Given the description of an element on the screen output the (x, y) to click on. 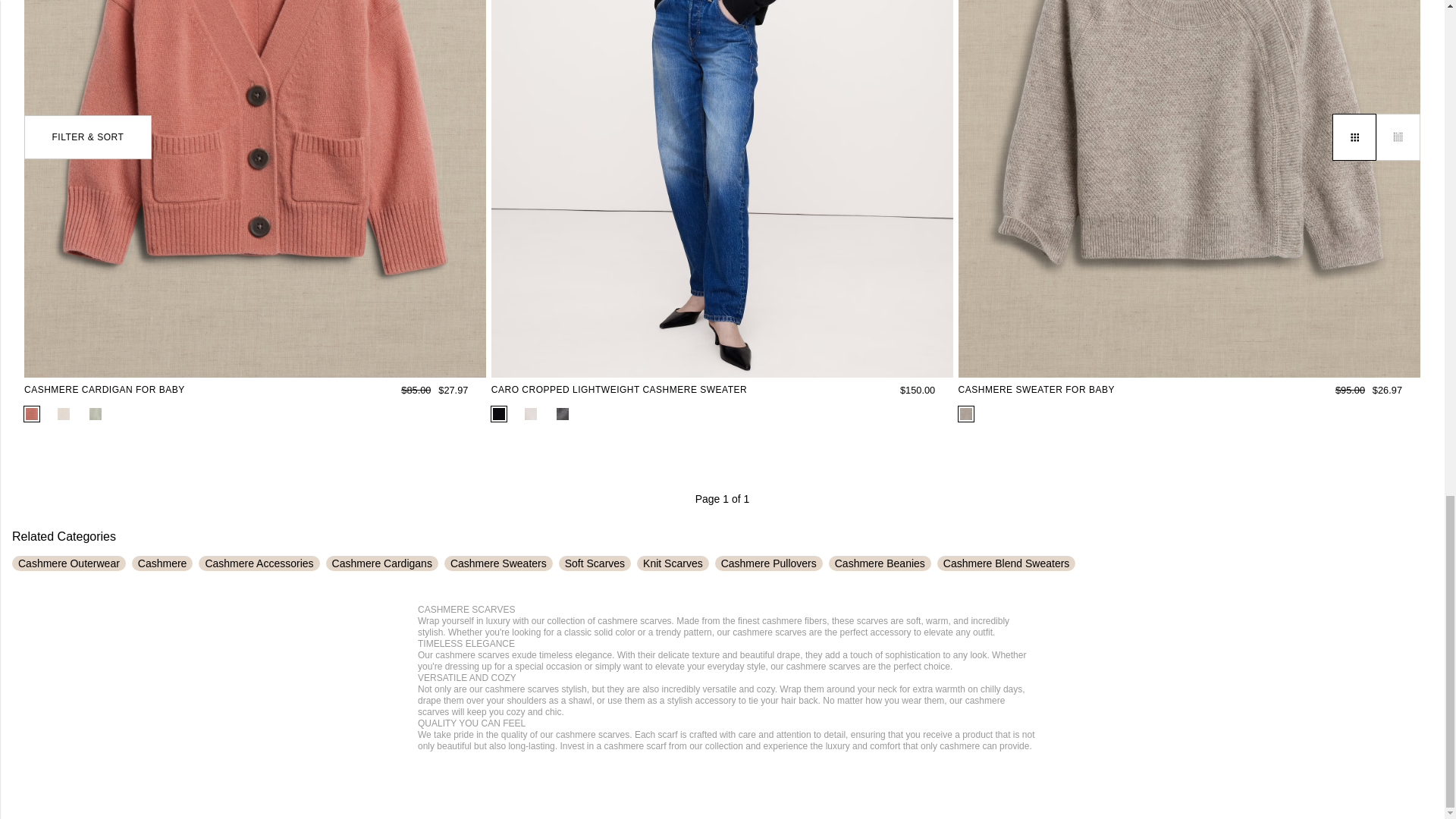
beige (63, 413)
green (94, 413)
pink (31, 413)
black (499, 413)
